Given the description of an element on the screen output the (x, y) to click on. 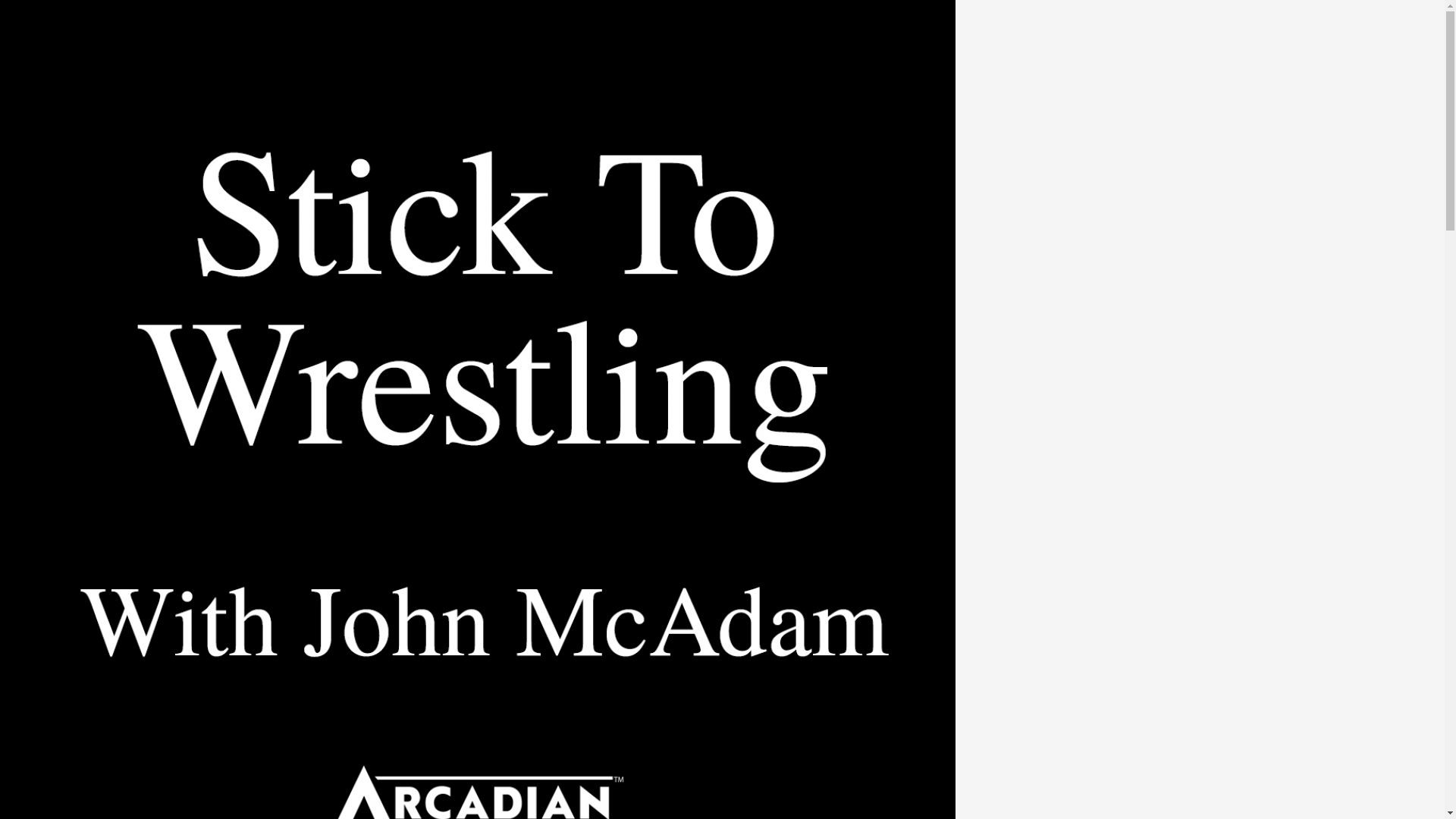
Search (30, 8)
